Given the description of an element on the screen output the (x, y) to click on. 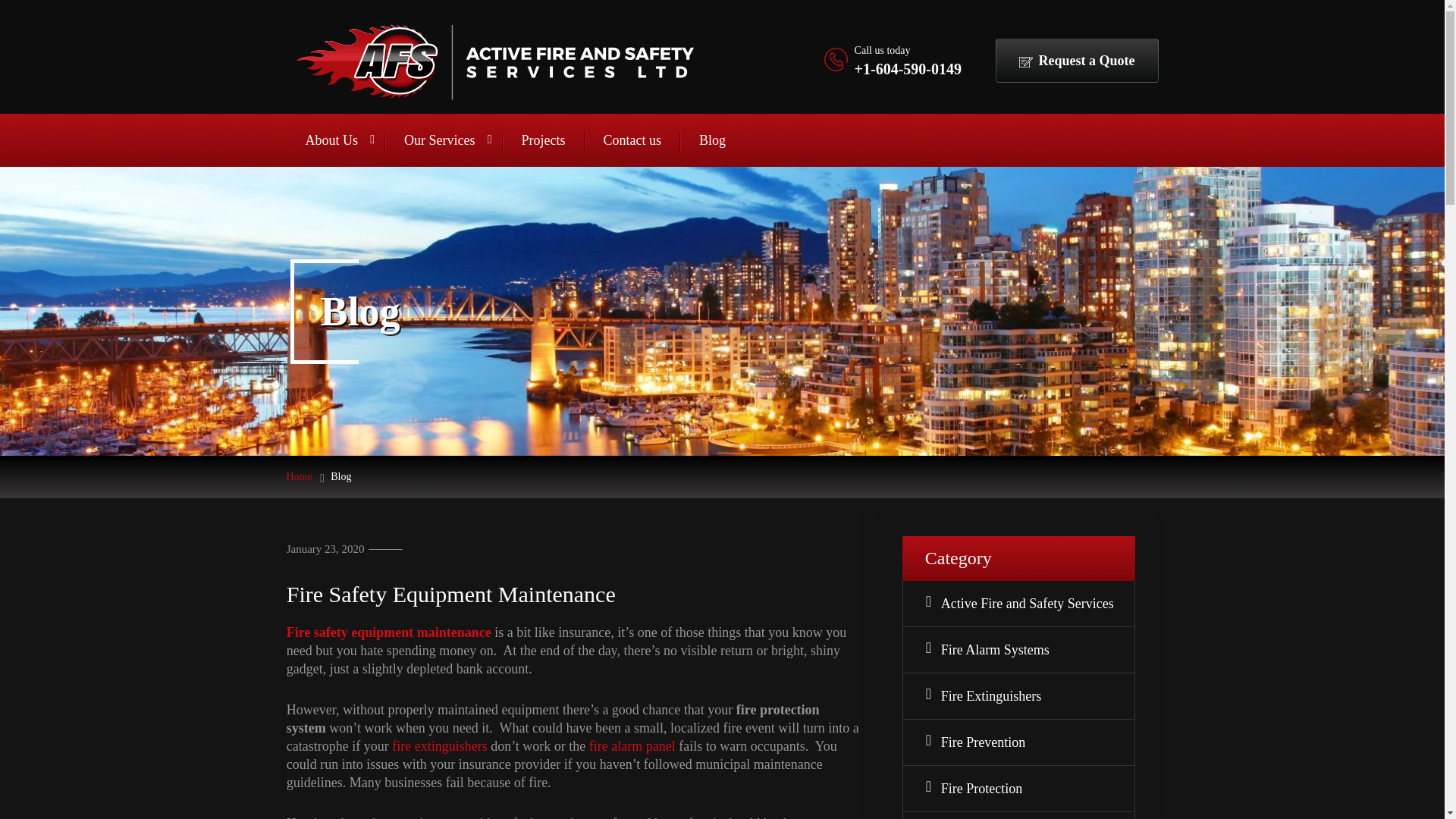
Projects (542, 140)
Fire Prevention (1029, 742)
Fire Alarm Systems (1029, 649)
Blog (711, 140)
Contact us (631, 140)
Fire Extinguishers (1029, 695)
Fire Protection (1029, 788)
Request a Quote (1075, 60)
Fire safety equipment maintenance (389, 631)
Active Fire and Safety Services (1029, 603)
fire alarm panel (632, 745)
About Us (335, 140)
Home (299, 476)
Blog (340, 476)
fire extinguishers (438, 745)
